Given the description of an element on the screen output the (x, y) to click on. 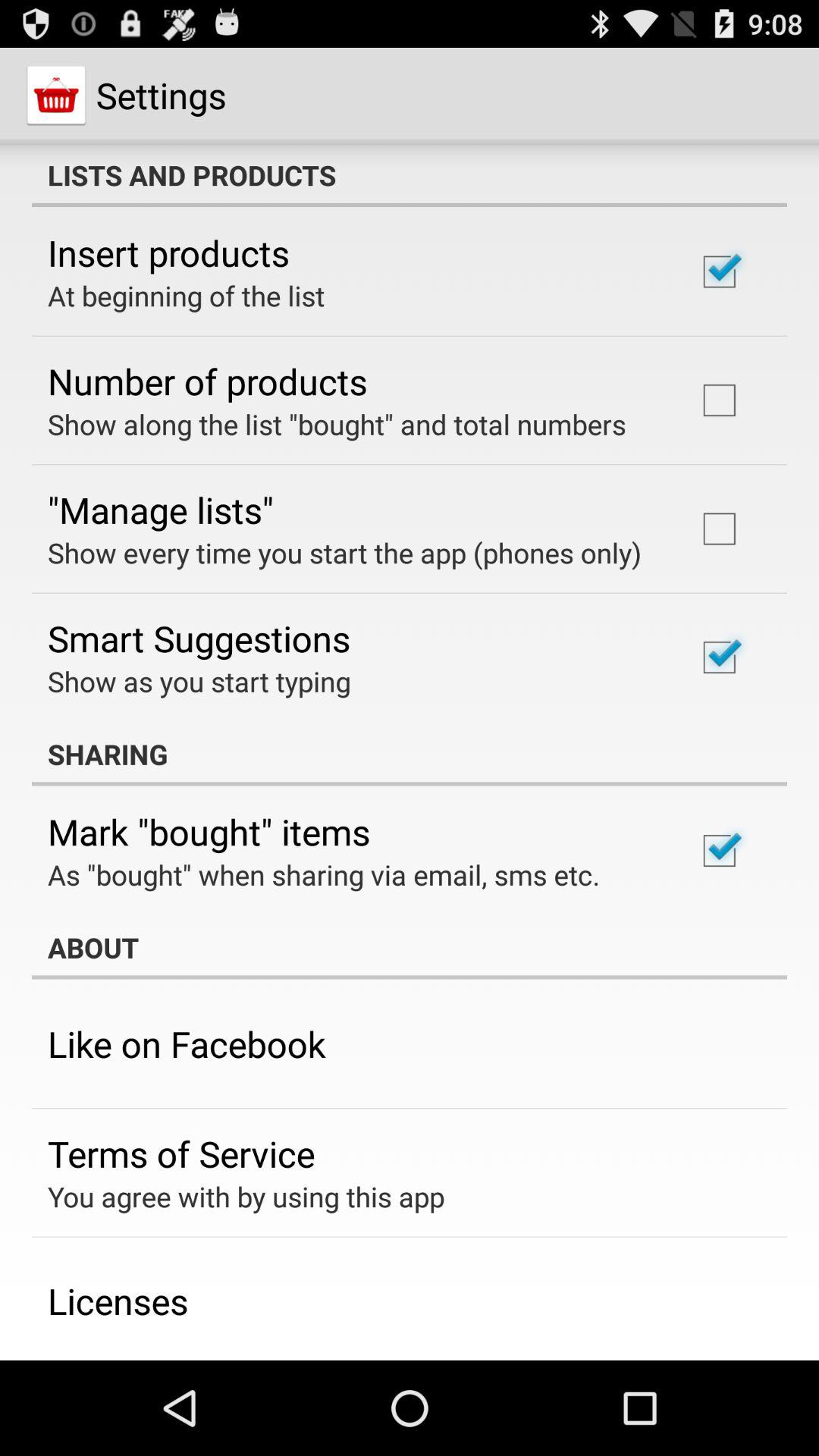
swipe until smart suggestions icon (198, 638)
